Given the description of an element on the screen output the (x, y) to click on. 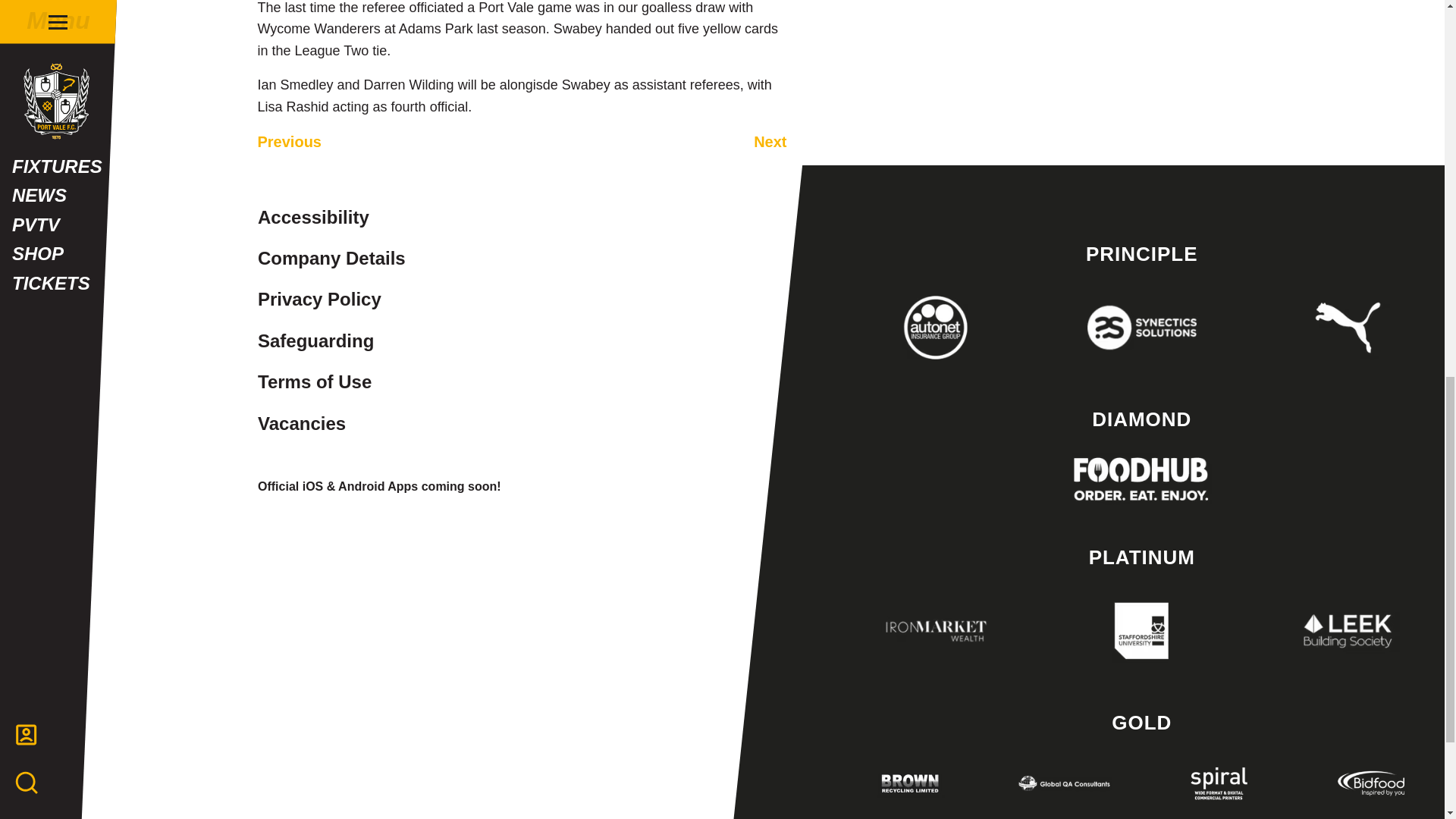
Synectics (1141, 327)
Autonet (936, 327)
Staffordshire Uni (1141, 630)
Puma (1348, 327)
Ironmarket (936, 630)
Foodhub (1141, 479)
